Given the description of an element on the screen output the (x, y) to click on. 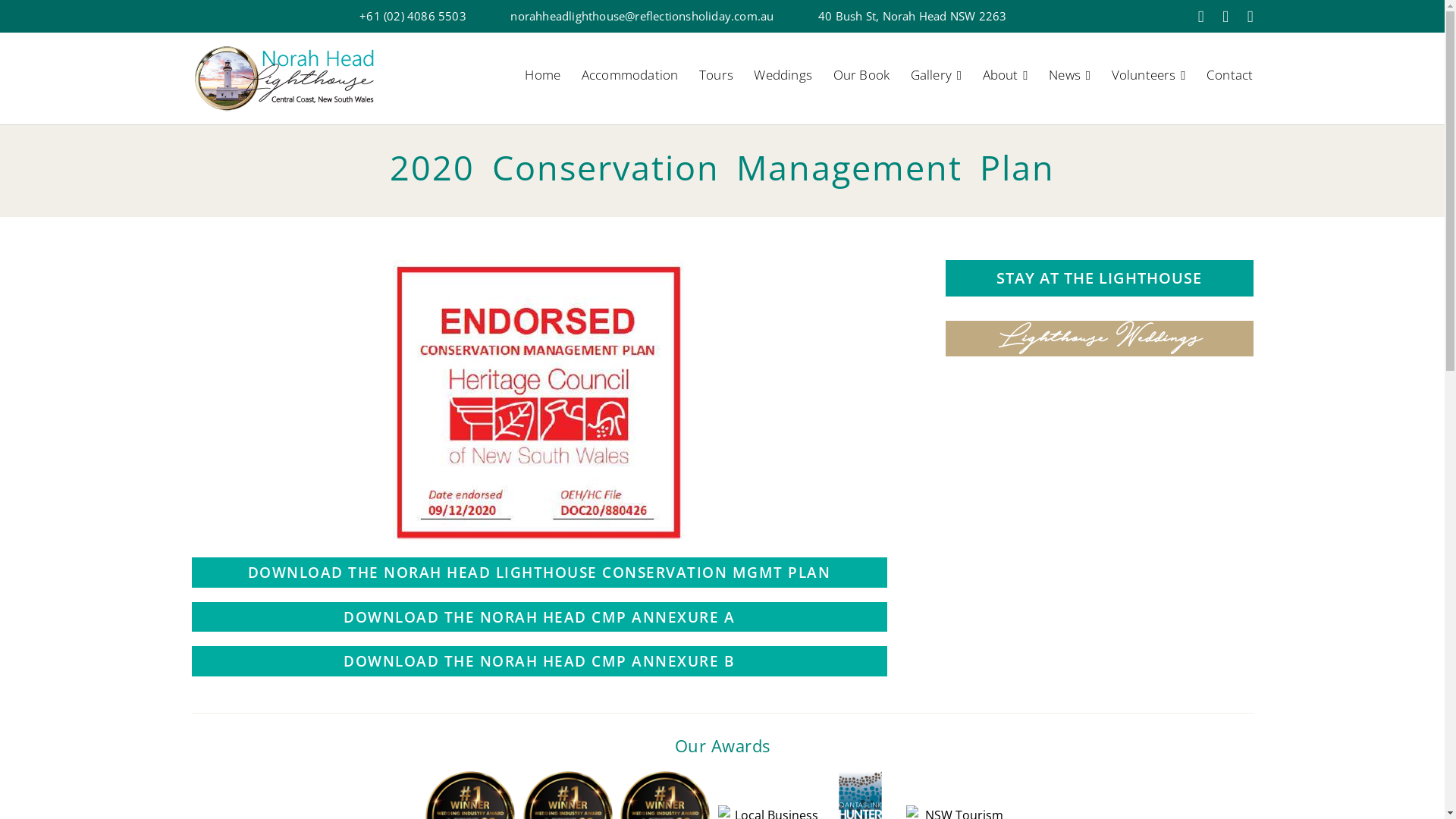
Tours Element type: text (716, 77)
40 Bush St, Norah Head NSW 2263 Element type: text (912, 16)
norahheadlighthouse@reflectionsholiday.com.au Element type: text (641, 16)
Lighthouse Weddings Element type: text (1098, 338)
Our Book Element type: text (861, 77)
Weddings Element type: text (783, 77)
About Element type: text (1005, 78)
Home Element type: text (546, 77)
DOWNLOAD THE NORAH HEAD LIGHTHOUSE CONSERVATION MGMT PLAN Element type: text (538, 571)
Contact Element type: text (1224, 77)
+61 (02) 4086 5503 Element type: text (412, 16)
DOWNLOAD THE NORAH HEAD CMP ANNEXURE B Element type: text (538, 660)
Gallery Element type: text (935, 78)
News Element type: text (1068, 78)
Volunteers Element type: text (1148, 78)
DOWNLOAD THE NORAH HEAD CMP ANNEXURE A Element type: text (538, 616)
Accommodation Element type: text (629, 77)
STAY AT THE LIGHTHOUSE Element type: text (1098, 278)
